Given the description of an element on the screen output the (x, y) to click on. 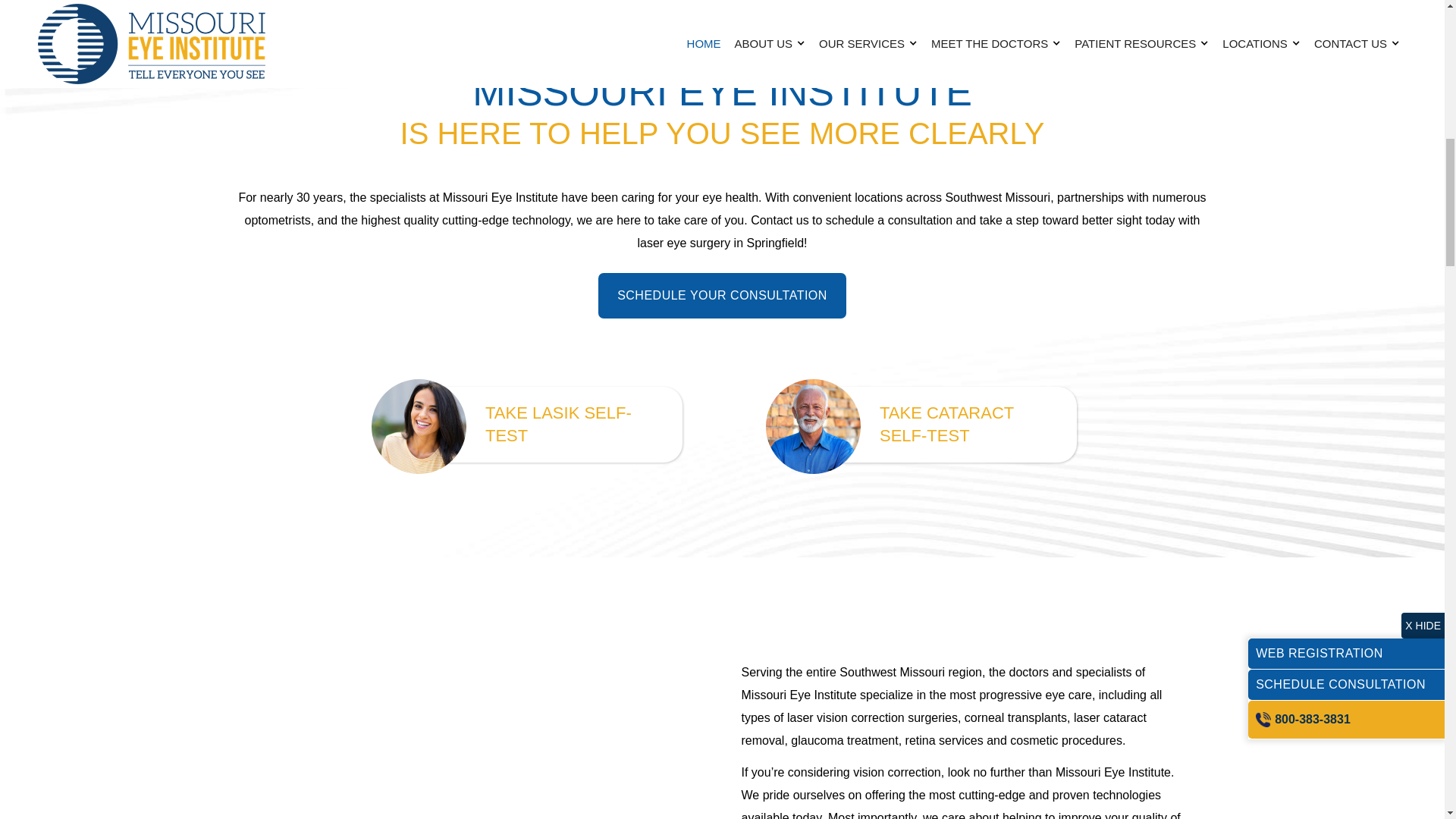
SCHEDULE YOUR CONSULTATION (721, 295)
